Given the description of an element on the screen output the (x, y) to click on. 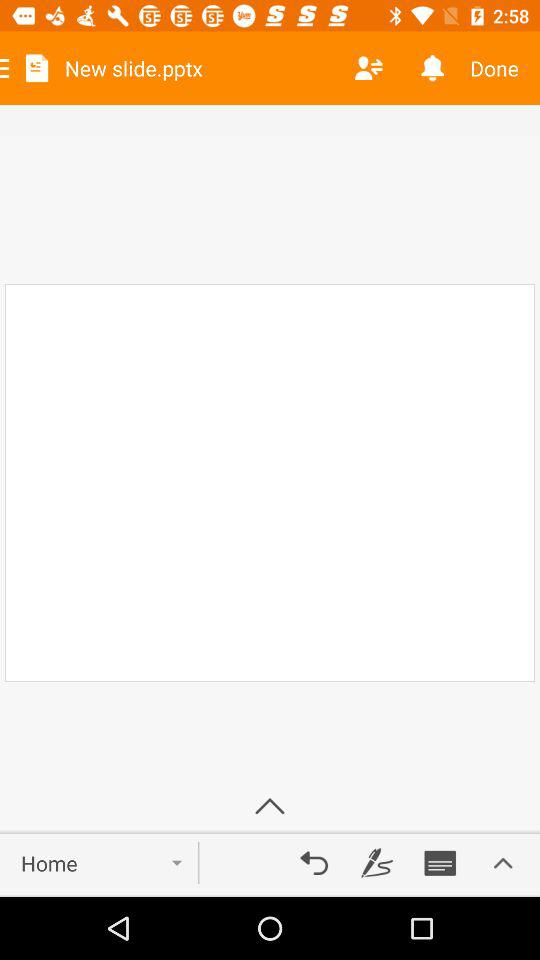
sort the contact (368, 68)
